Given the description of an element on the screen output the (x, y) to click on. 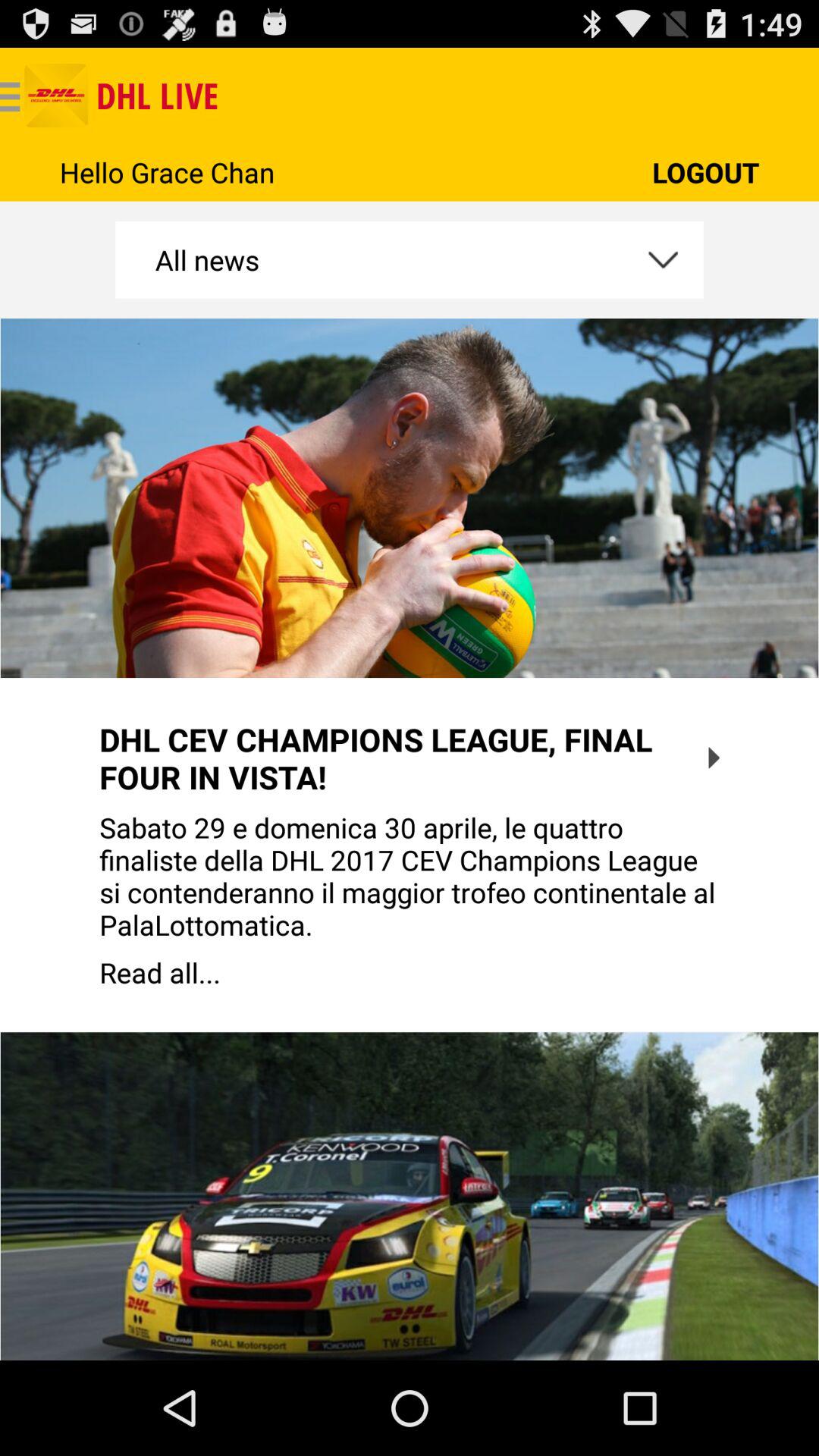
turn on the icon next to the hello grace chan app (705, 172)
